Given the description of an element on the screen output the (x, y) to click on. 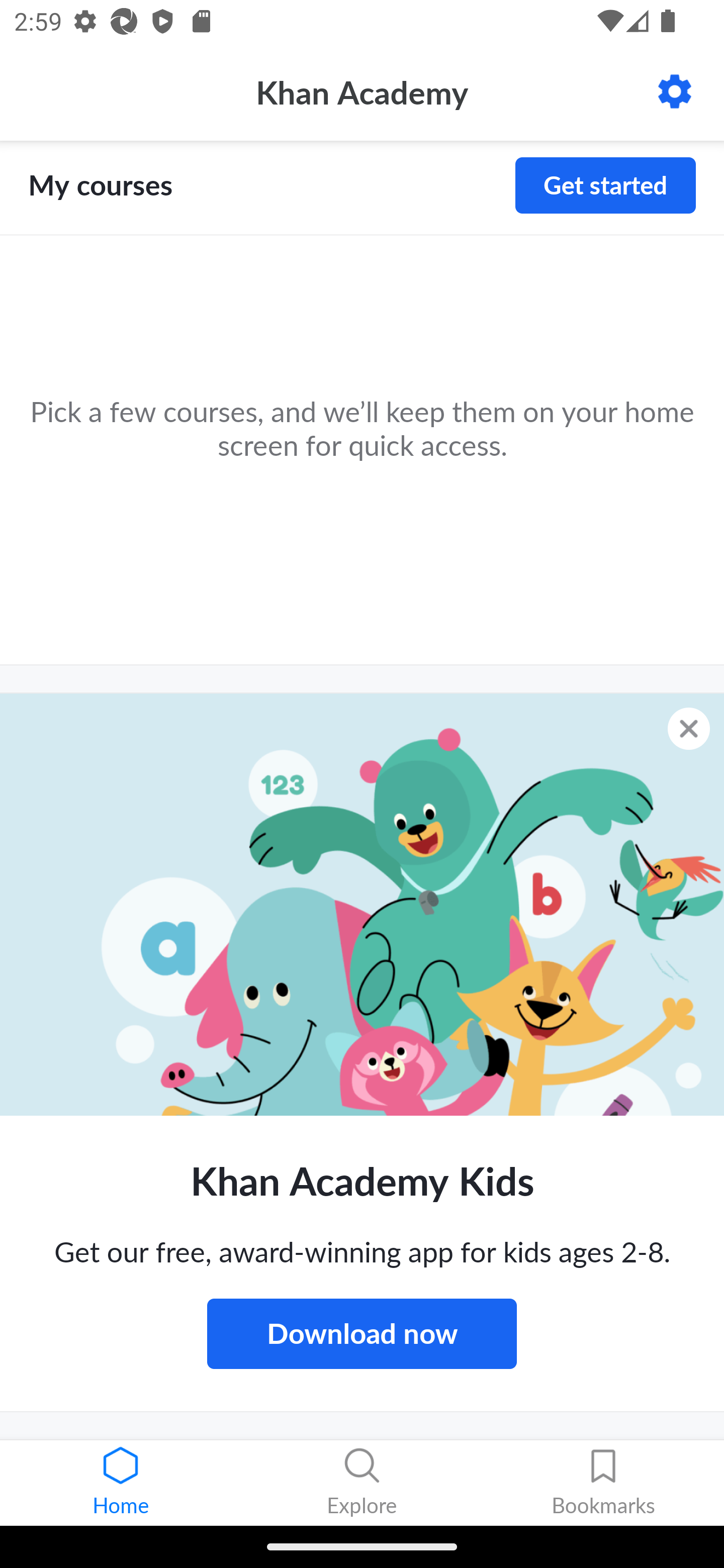
Settings (674, 91)
Get started (605, 184)
Dismiss (688, 728)
Download now (361, 1333)
Home (120, 1482)
Explore (361, 1482)
Bookmarks (603, 1482)
